Given the description of an element on the screen output the (x, y) to click on. 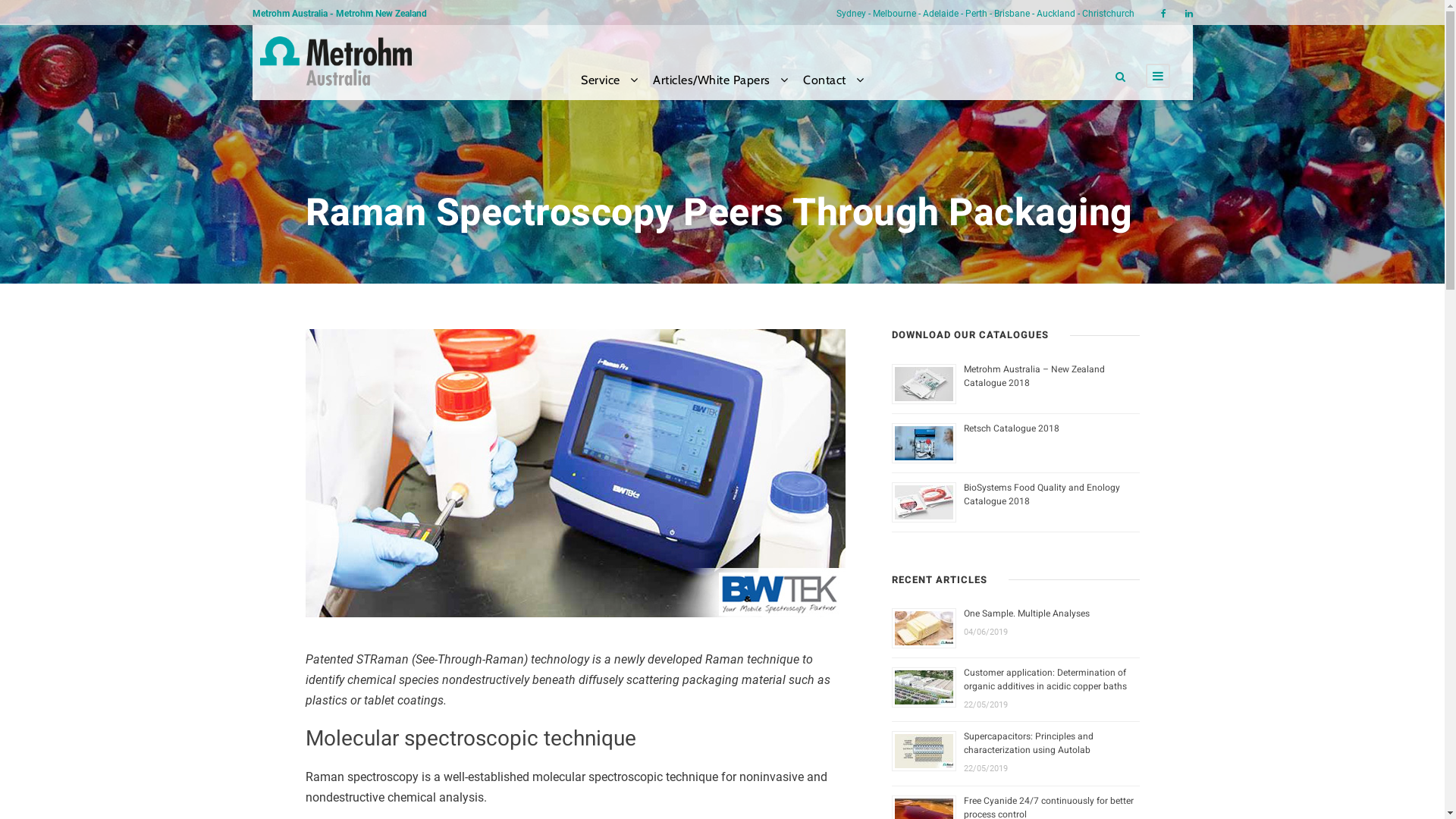
Raman Spectroscopy Peers Through Packaging Element type: hover (574, 473)
Retsch Catalogue 2018 Element type: text (1011, 428)
Contact Element type: text (833, 84)
linkedin Element type: hover (1188, 13)
Service Element type: text (608, 84)
Metrohm-Australia-2008_Pantone Element type: hover (335, 60)
facebook Element type: hover (1162, 13)
BioSystems Food Quality and Enology Catalogue 2018 Element type: text (1041, 494)
One Sample. Multiple Analyses Element type: text (1026, 613)
Articles/White Papers Element type: text (719, 84)
